Given the description of an element on the screen output the (x, y) to click on. 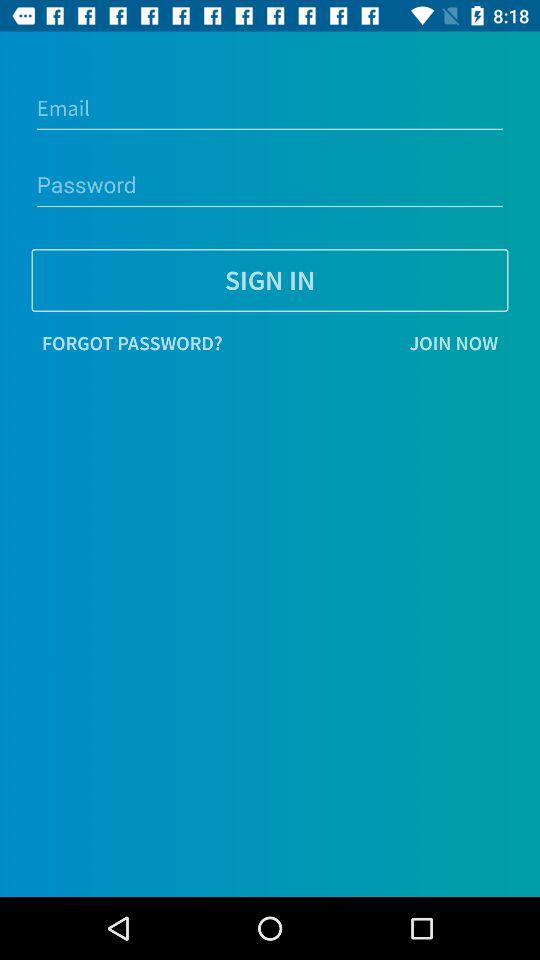
launch icon to the right of the forgot password? icon (370, 343)
